Given the description of an element on the screen output the (x, y) to click on. 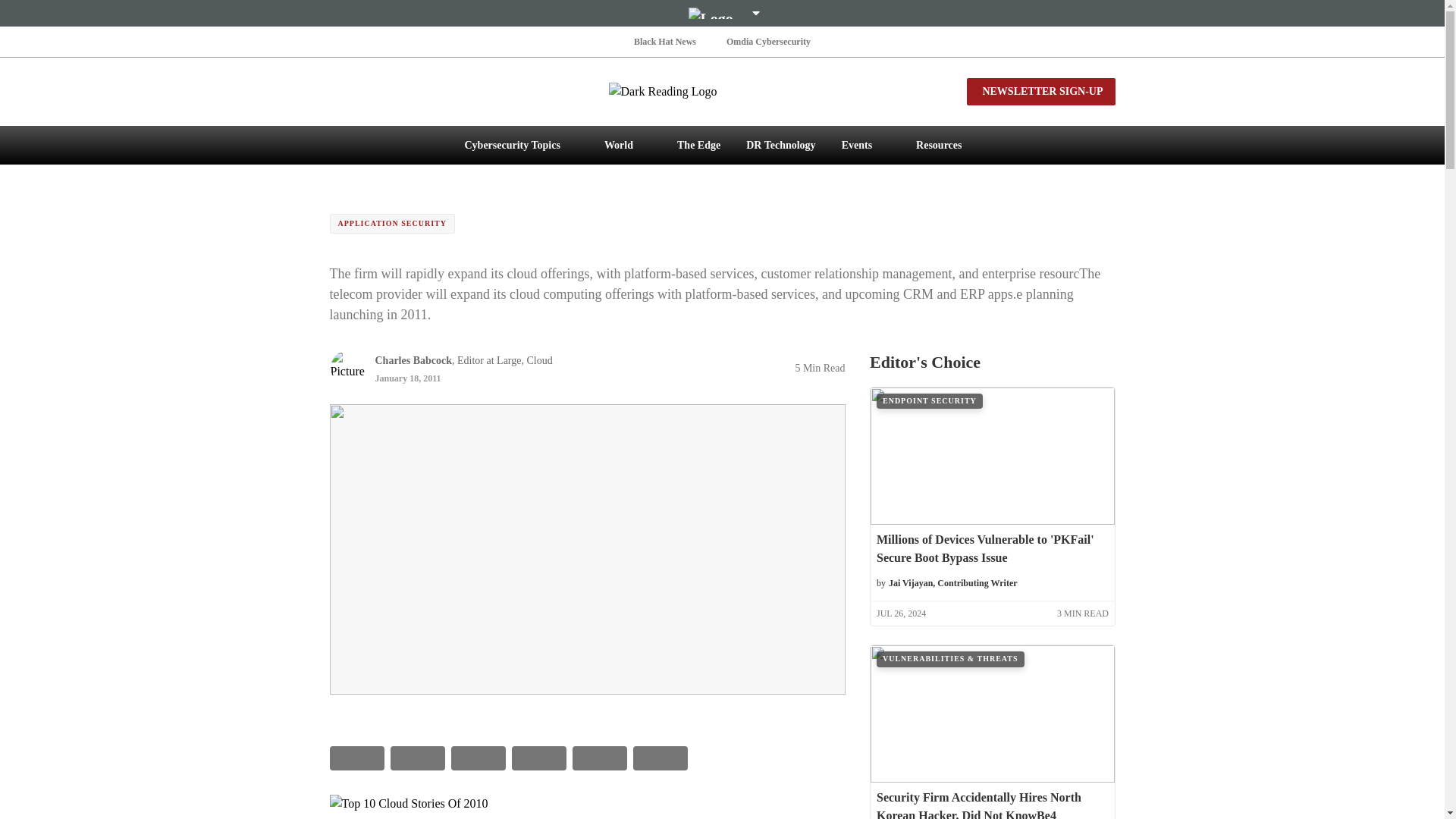
Dark Reading Logo (721, 91)
Top 10 Cloud Stories Of 2010 (586, 803)
Picture of Charles Babcock (347, 367)
Omdia Cybersecurity (768, 41)
NEWSLETTER SIGN-UP (1040, 90)
Black Hat News (664, 41)
